Given the description of an element on the screen output the (x, y) to click on. 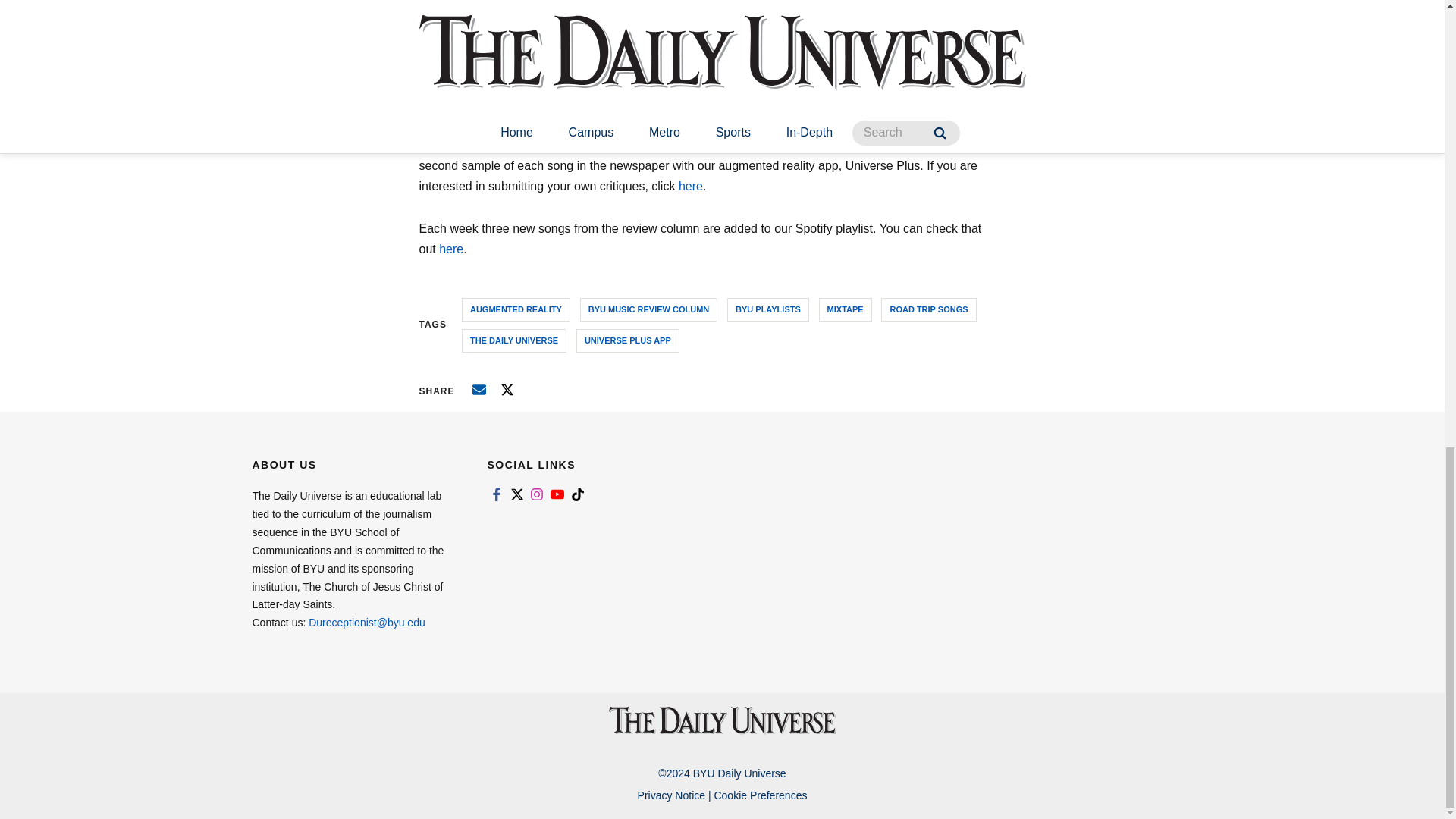
here (690, 185)
Privacy Notice (670, 795)
THE DAILY UNIVERSE (513, 340)
Link to instagram (536, 494)
Link to twitter (515, 494)
BYU PLAYLISTS (767, 309)
ROAD TRIP SONGS (927, 309)
AUGMENTED REALITY (515, 309)
Email (478, 389)
Cookie Preferences (759, 795)
